Given the description of an element on the screen output the (x, y) to click on. 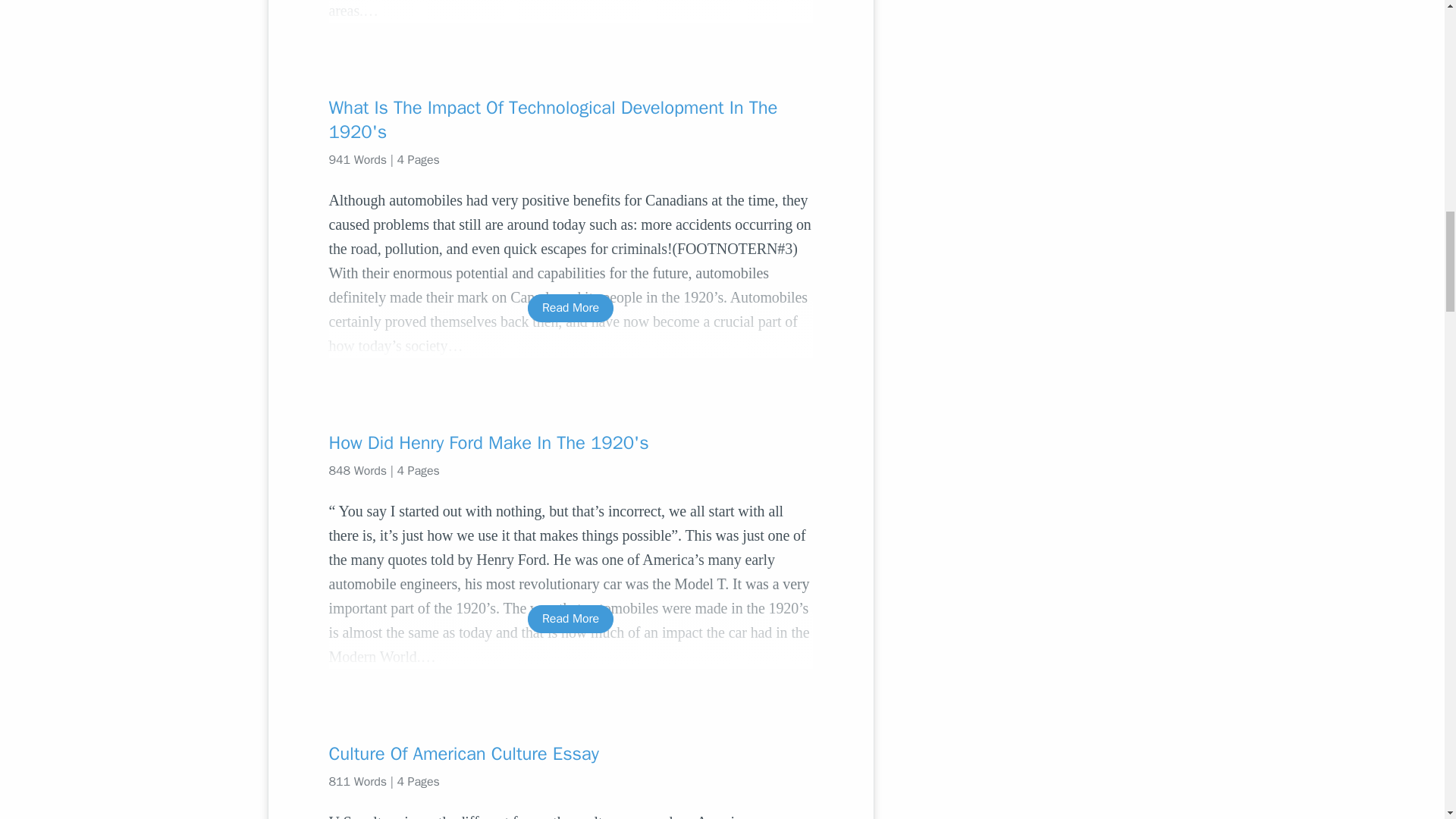
Read More (569, 308)
Read More (569, 619)
How Did Henry Ford Make In The 1920's (570, 442)
Culture Of American Culture Essay (570, 753)
